Given the description of an element on the screen output the (x, y) to click on. 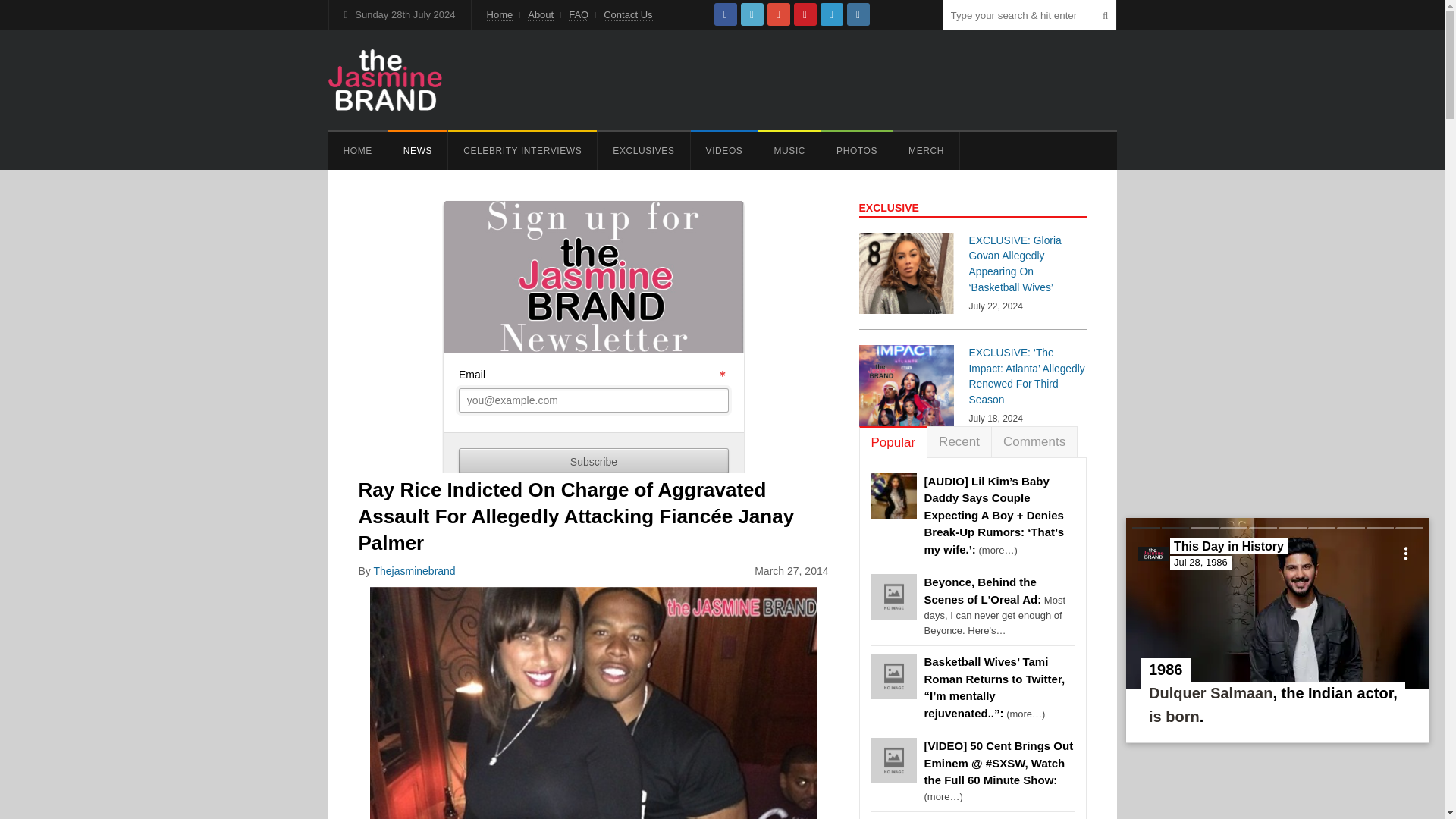
News (417, 150)
MERCH (926, 150)
Exclusives (642, 150)
Instagram (858, 14)
PHOTOS (856, 150)
Home (499, 15)
Contact Us (628, 15)
NEWS (417, 150)
Photos (856, 150)
CELEBRITY INTERVIEWS (522, 150)
About (540, 15)
FAQ (578, 15)
Pinterest (804, 14)
Home (357, 150)
EXCLUSIVES (642, 150)
